Given the description of an element on the screen output the (x, y) to click on. 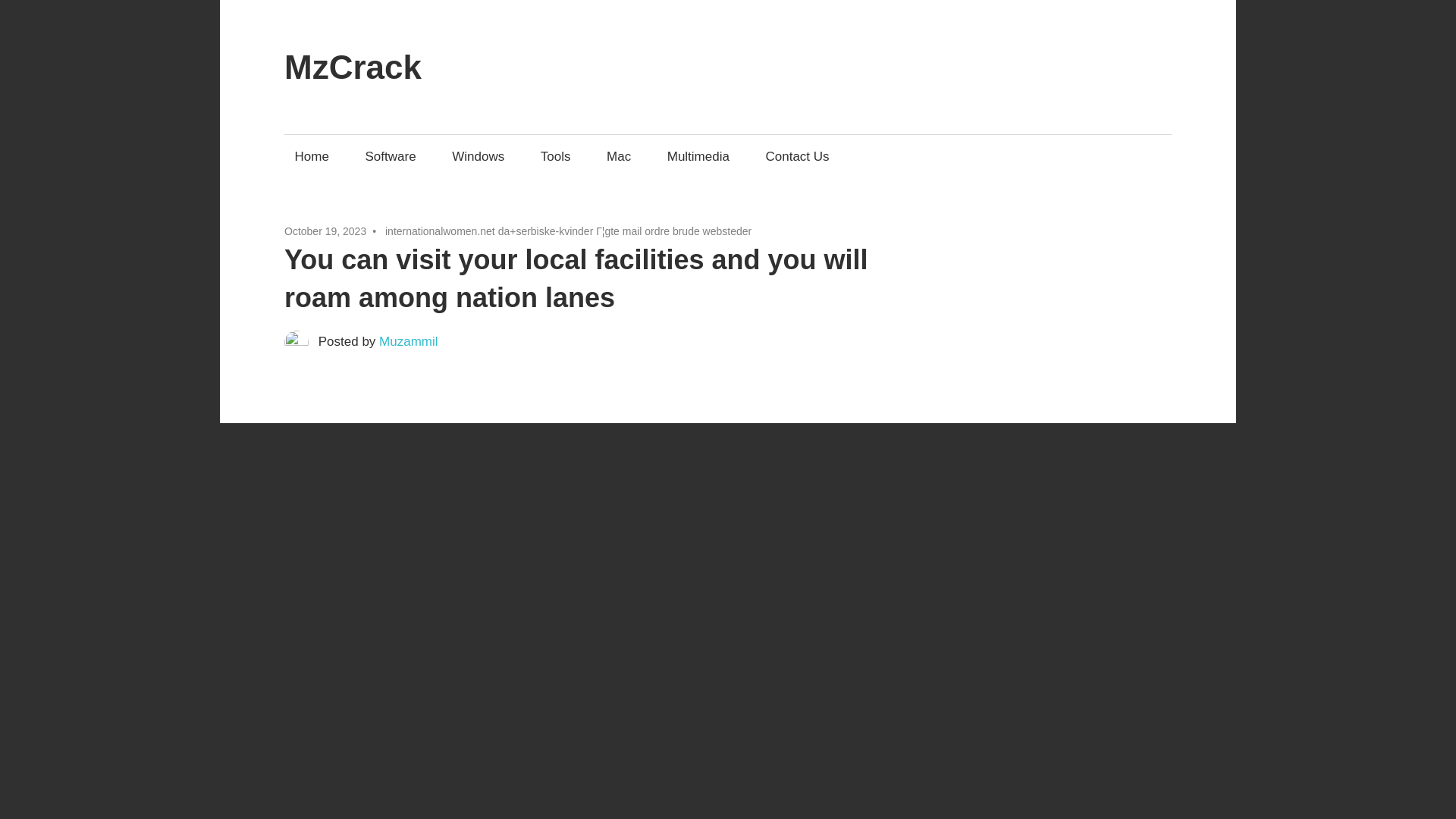
Tools (554, 156)
MzCrack (352, 66)
October 19, 2023 (324, 231)
Multimedia (697, 156)
Contact Us (797, 156)
Windows (478, 156)
4:00 am (324, 231)
Software (390, 156)
Home (311, 156)
View all posts by Muzammil (408, 341)
